Given the description of an element on the screen output the (x, y) to click on. 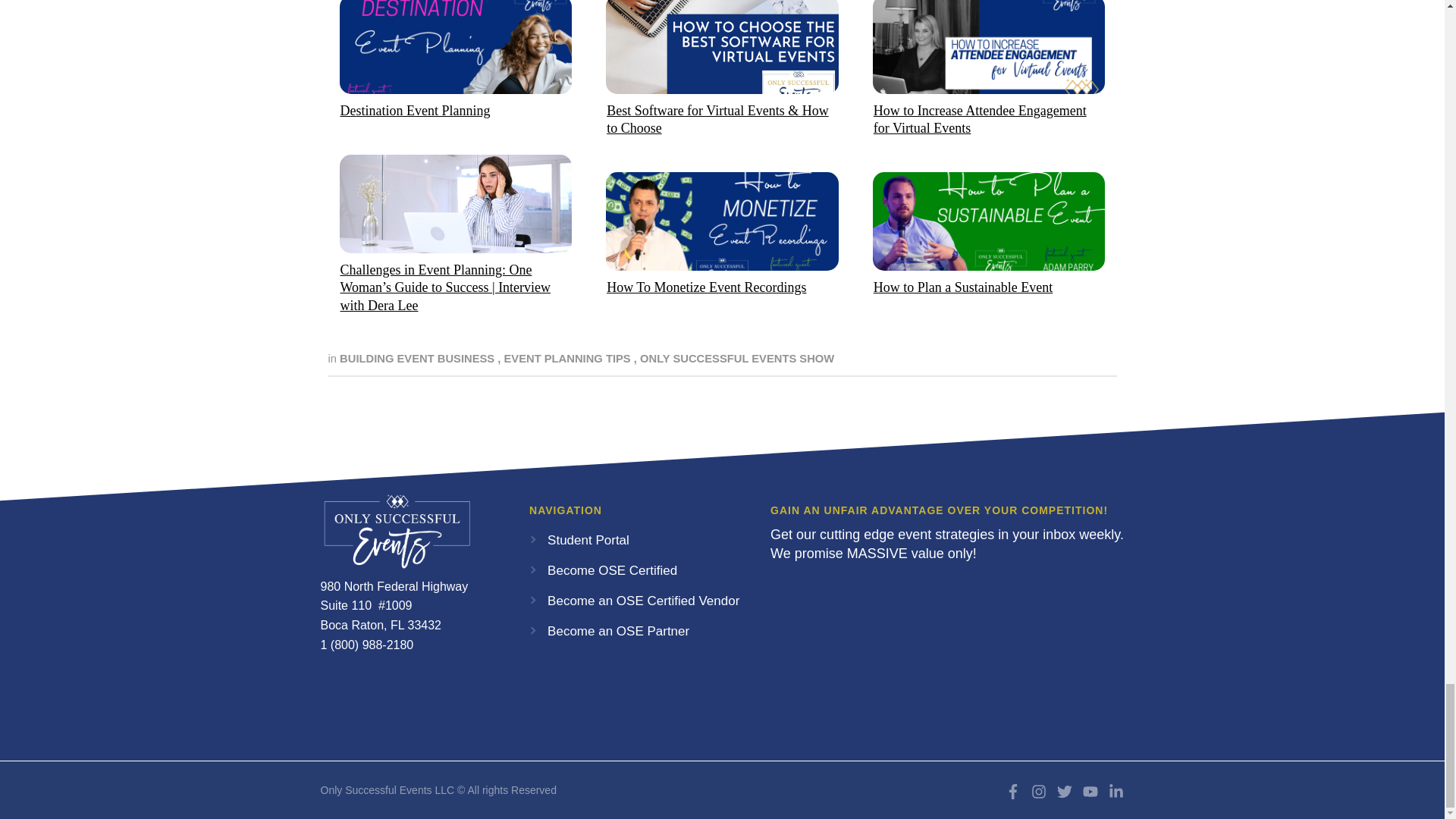
Destination Event Planning (414, 110)
How To Monetize Event Recordings (706, 287)
How to Plan a Sustainable Event (962, 287)
How to Increase Attendee Engagement for Virtual Events (979, 119)
